Given the description of an element on the screen output the (x, y) to click on. 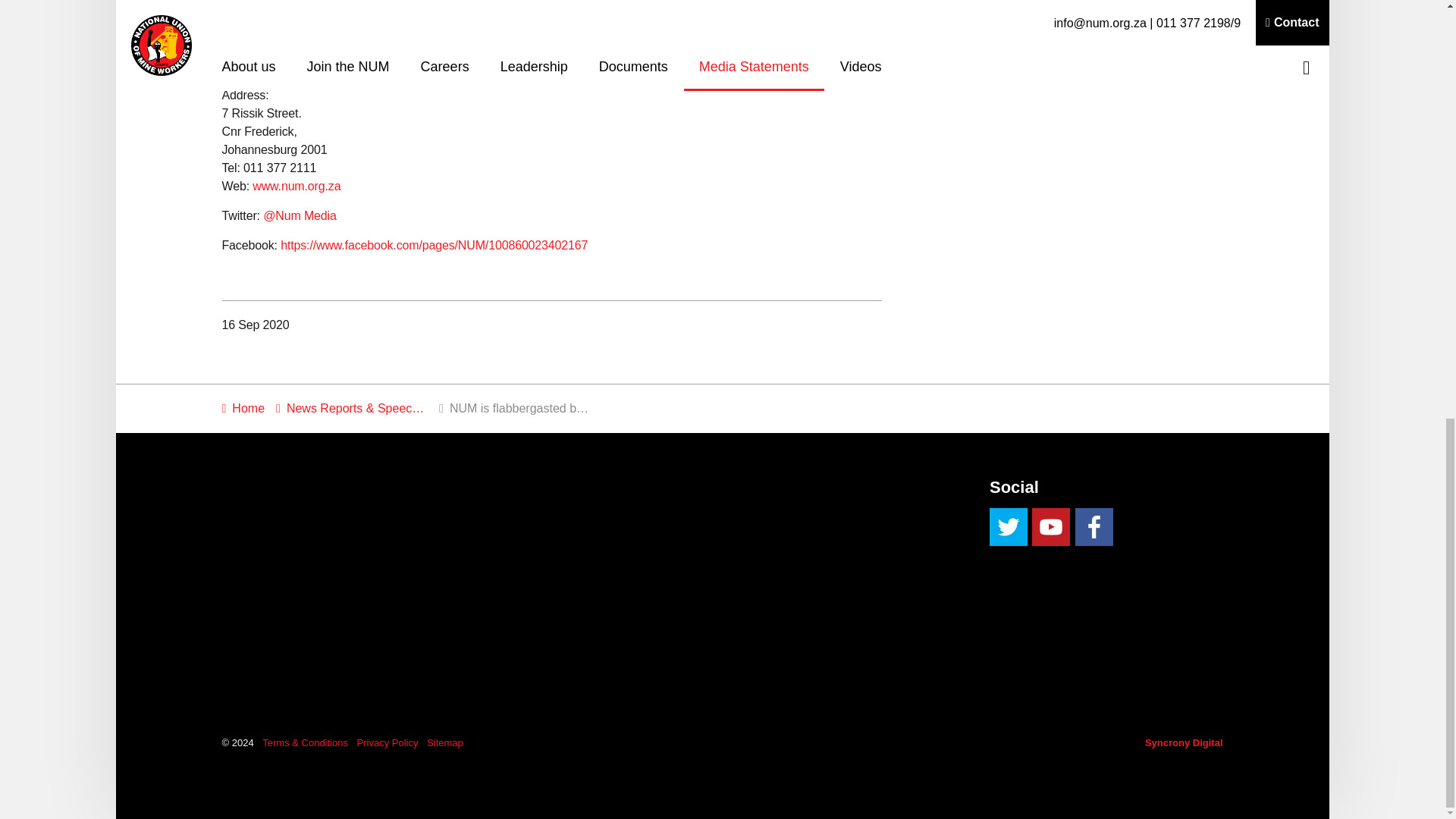
Home (242, 408)
Sitemap (444, 742)
Privacy Policy (387, 742)
www.num.org.za (295, 185)
Syncrony Digital (1183, 742)
